Given the description of an element on the screen output the (x, y) to click on. 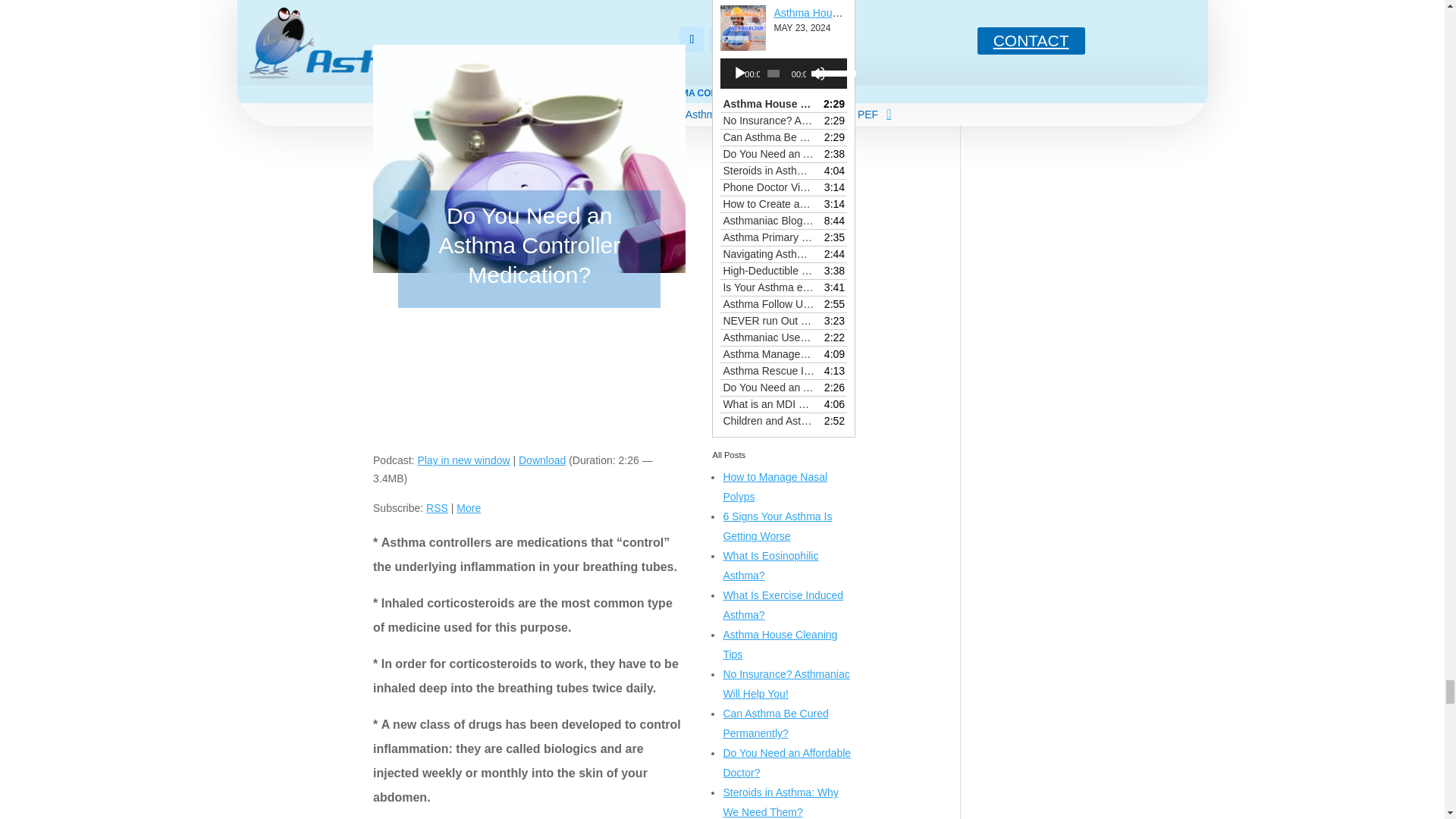
Blubrry Podcast Player (528, 383)
Play in new window (462, 460)
Download (542, 460)
